Given the description of an element on the screen output the (x, y) to click on. 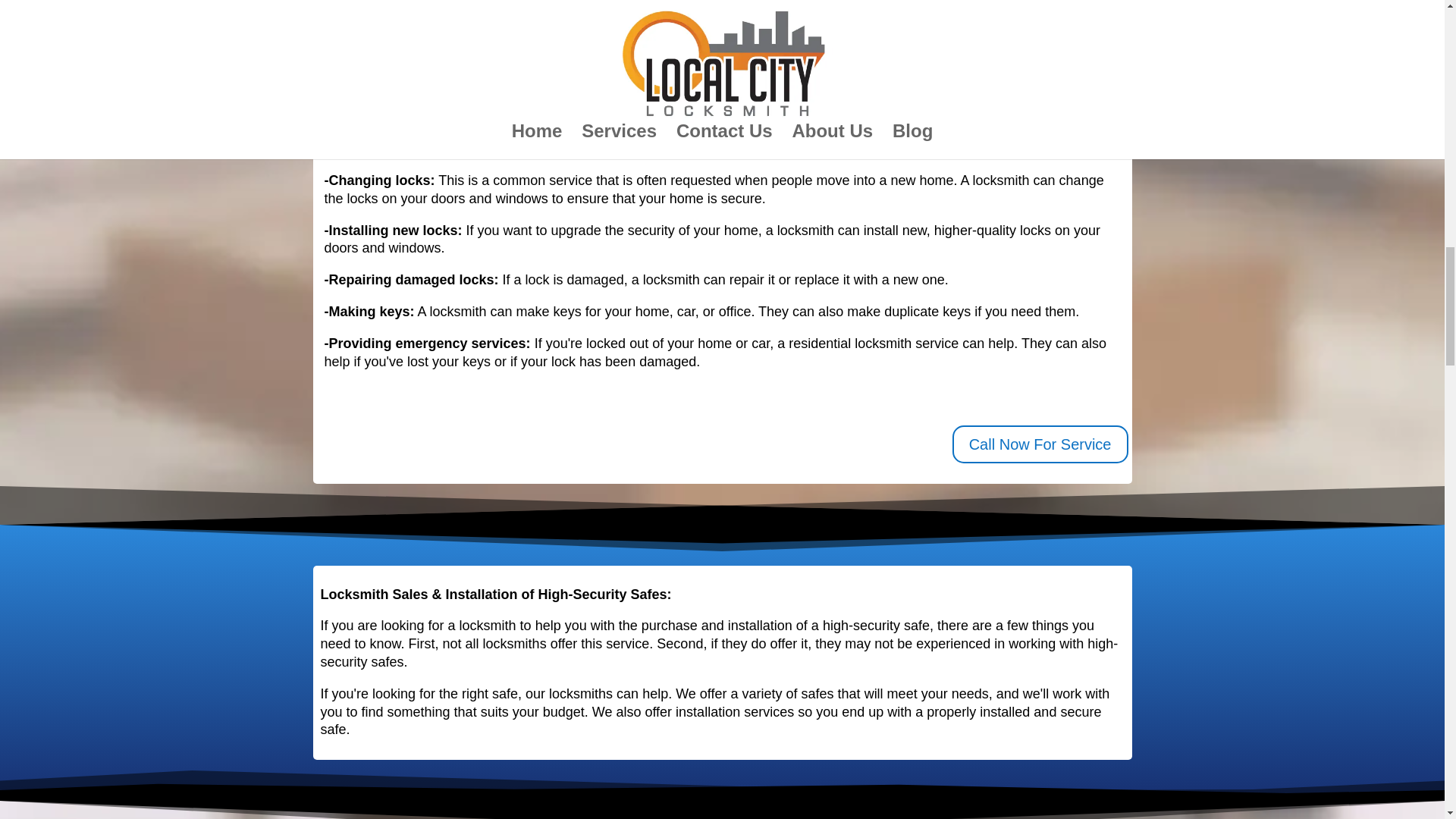
Call Now For Service (1040, 444)
